Given the description of an element on the screen output the (x, y) to click on. 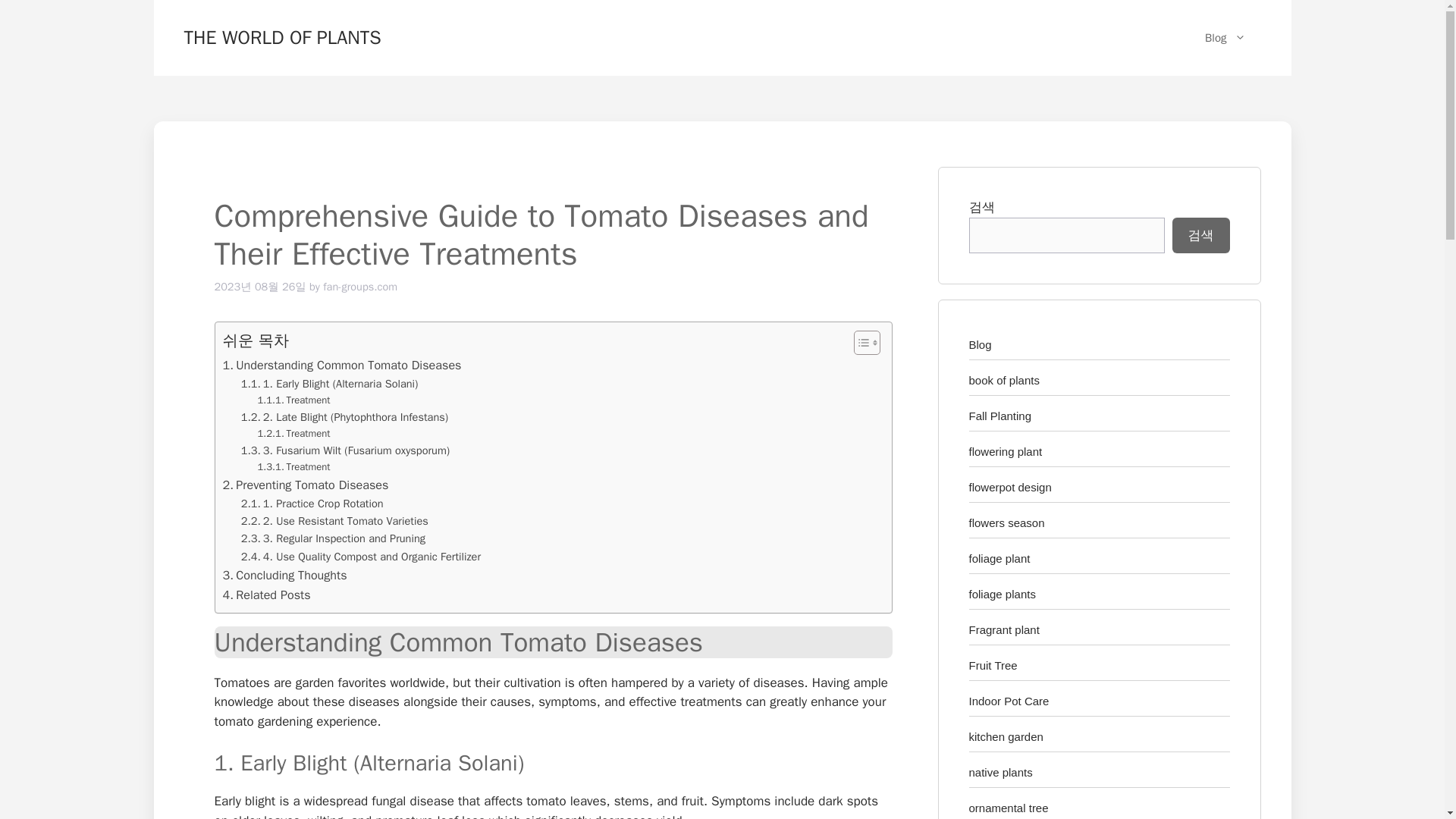
Treatment (293, 400)
flowering plant (1005, 451)
1. Practice Crop Rotation (312, 503)
flowerpot design (1010, 486)
Related Posts (266, 595)
Concluding Thoughts (284, 575)
4. Use Quality Compost and Organic Fertilizer (360, 556)
Treatment (293, 433)
Fall Planting (1000, 415)
3. Regular Inspection and Pruning (333, 538)
Preventing Tomato Diseases (305, 485)
THE WORLD OF PLANTS (281, 37)
1. Practice Crop Rotation (312, 503)
book of plants (1004, 379)
Treatment (293, 467)
